Given the description of an element on the screen output the (x, y) to click on. 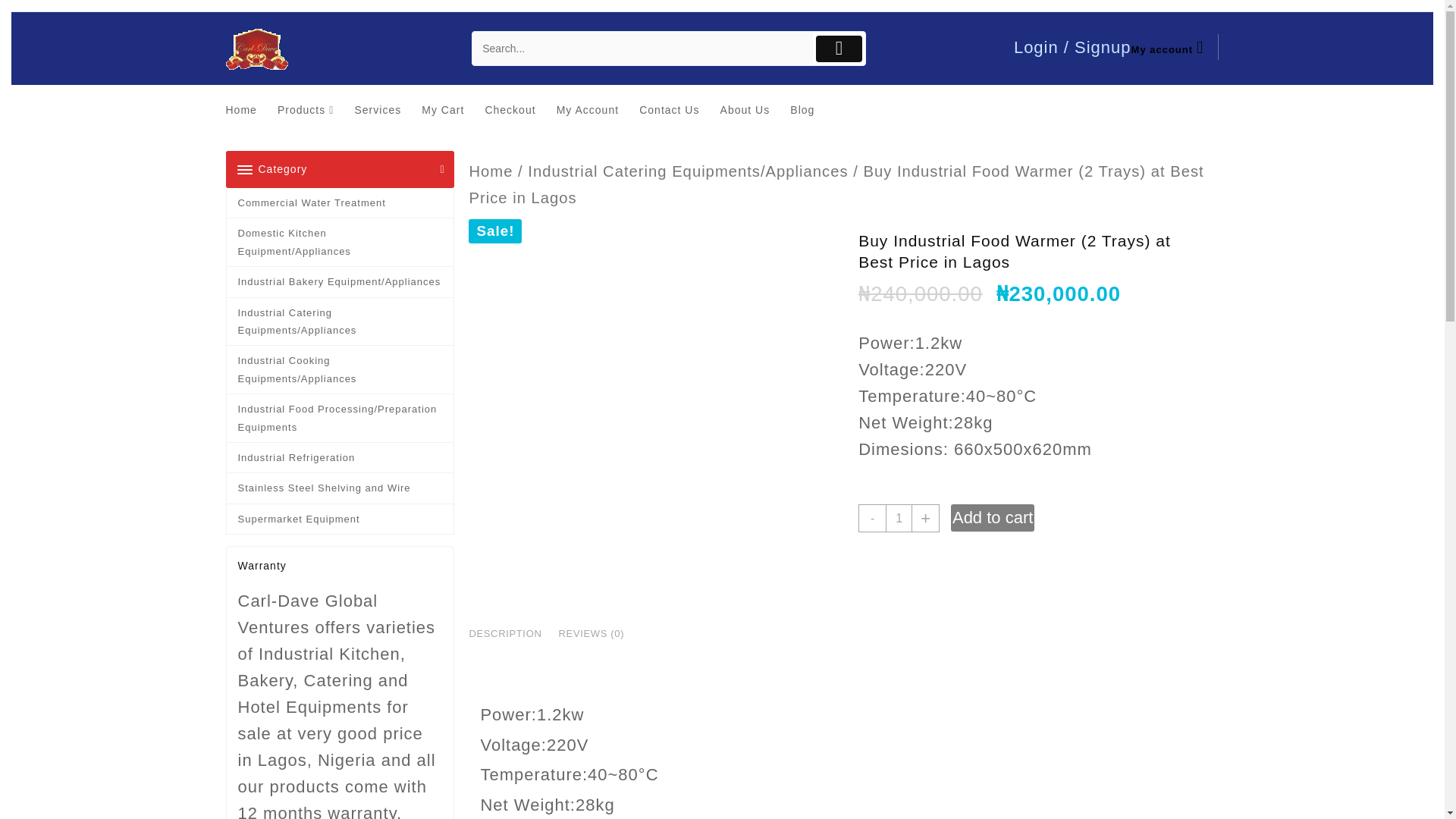
Blog (809, 109)
Products (313, 109)
Services (384, 109)
My Cart (450, 109)
About Us (753, 109)
Checkout (517, 109)
Contact Us (676, 109)
Home (248, 109)
Commercial Water Treatment (338, 203)
Submit (838, 48)
1 (898, 518)
Stainless Steel Shelving and Wire (338, 488)
Search (641, 48)
My Account (594, 109)
